Given the description of an element on the screen output the (x, y) to click on. 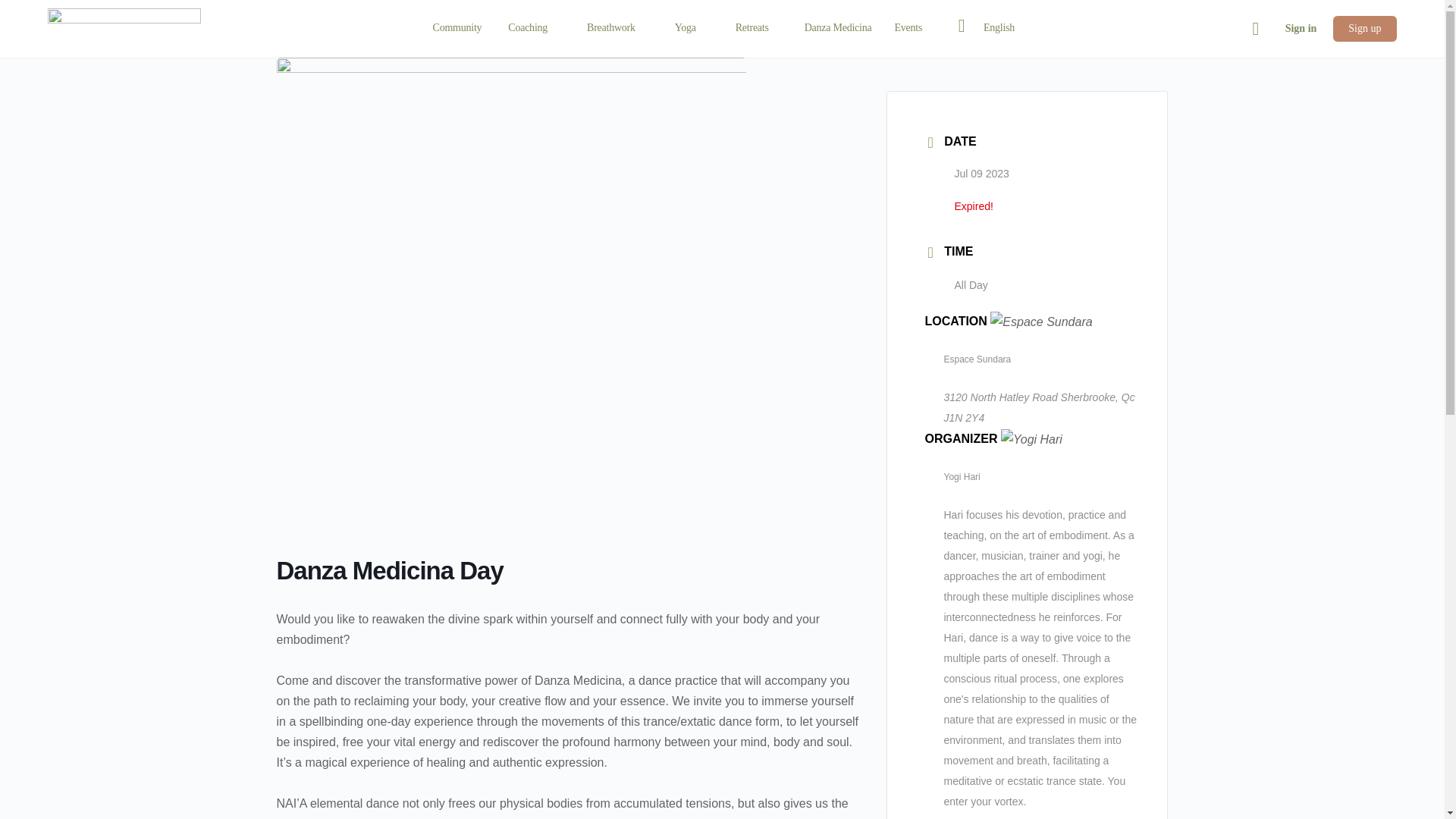
Sign in (1301, 28)
English (987, 28)
Danza Medicina (837, 28)
Coaching (533, 28)
English (987, 28)
Sign up (1364, 28)
Breathwork (617, 28)
Community (457, 28)
Retreats (758, 28)
